Given the description of an element on the screen output the (x, y) to click on. 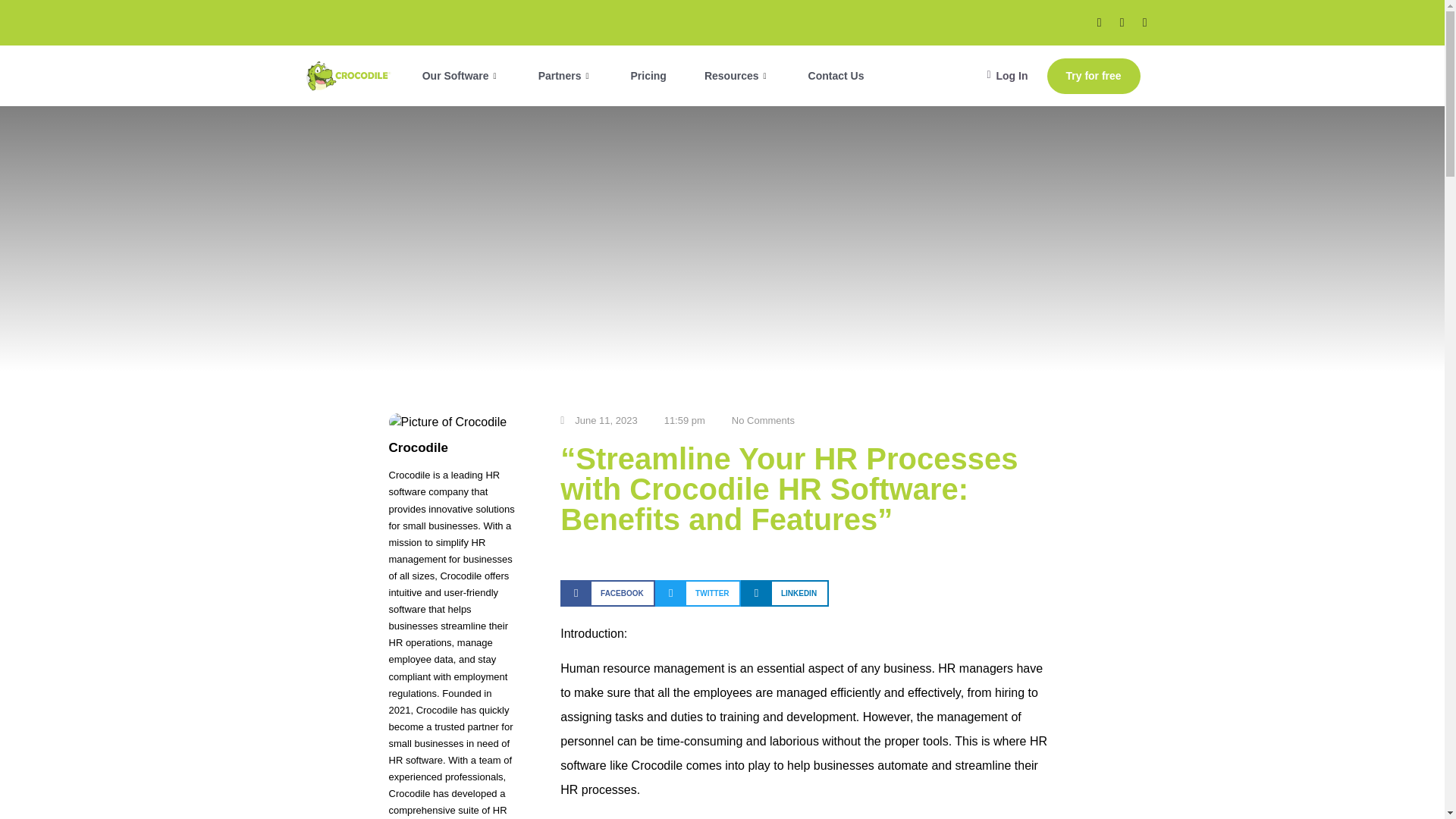
Partners (565, 75)
Resources (737, 75)
Our Software (461, 75)
Pricing (647, 75)
